Given the description of an element on the screen output the (x, y) to click on. 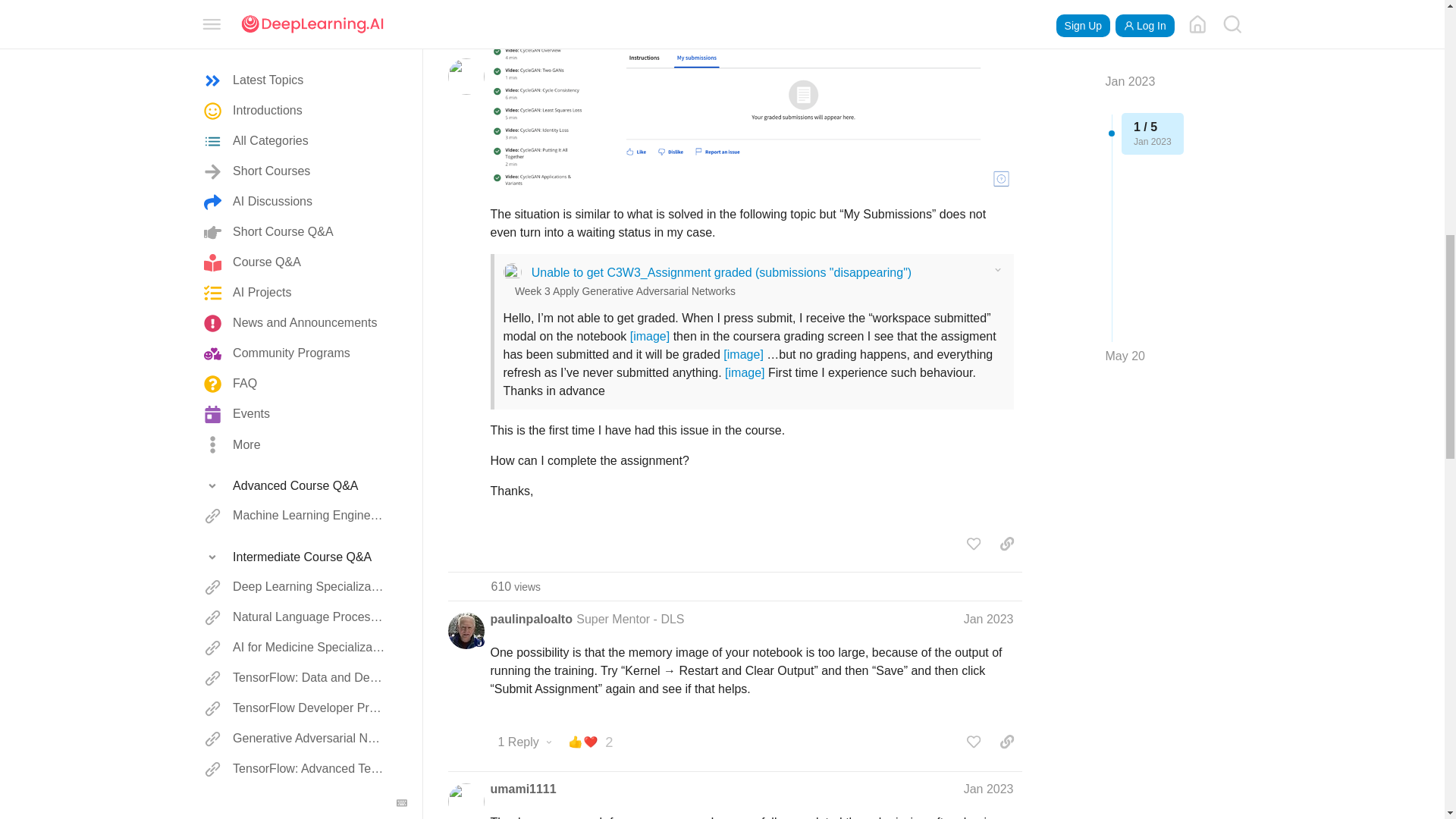
Toggle section (296, 21)
Machine Learning Specialization (296, 51)
Generative AI for Everyone (296, 173)
Toggle section (296, 214)
AI for Everyone (296, 112)
Tags (296, 214)
AI for Good (296, 142)
